Given the description of an element on the screen output the (x, y) to click on. 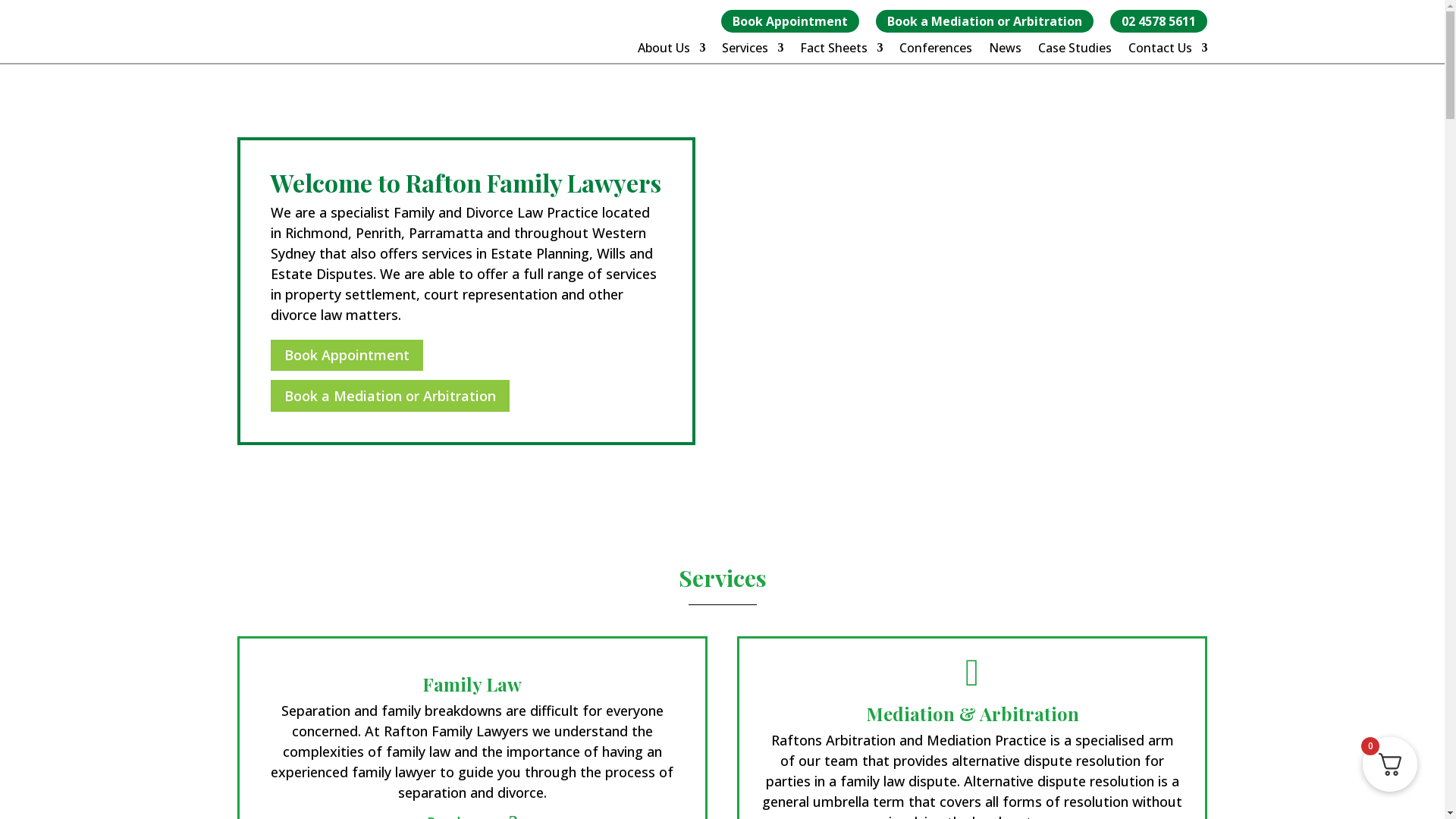
Conferences Element type: text (935, 50)
02 4578 5611 Element type: text (1158, 20)
Contact Us Element type: text (1167, 50)
Fact Sheets Element type: text (841, 50)
News Element type: text (1004, 50)
Case Studies Element type: text (1074, 50)
Book a Mediation or Arbitration Element type: text (984, 20)
Services Element type: text (752, 50)
Book Appointment Element type: text (790, 20)
Book a Mediation or Arbitration Element type: text (388, 395)
About Us Element type: text (671, 50)
Book Appointment Element type: text (345, 354)
